Given the description of an element on the screen output the (x, y) to click on. 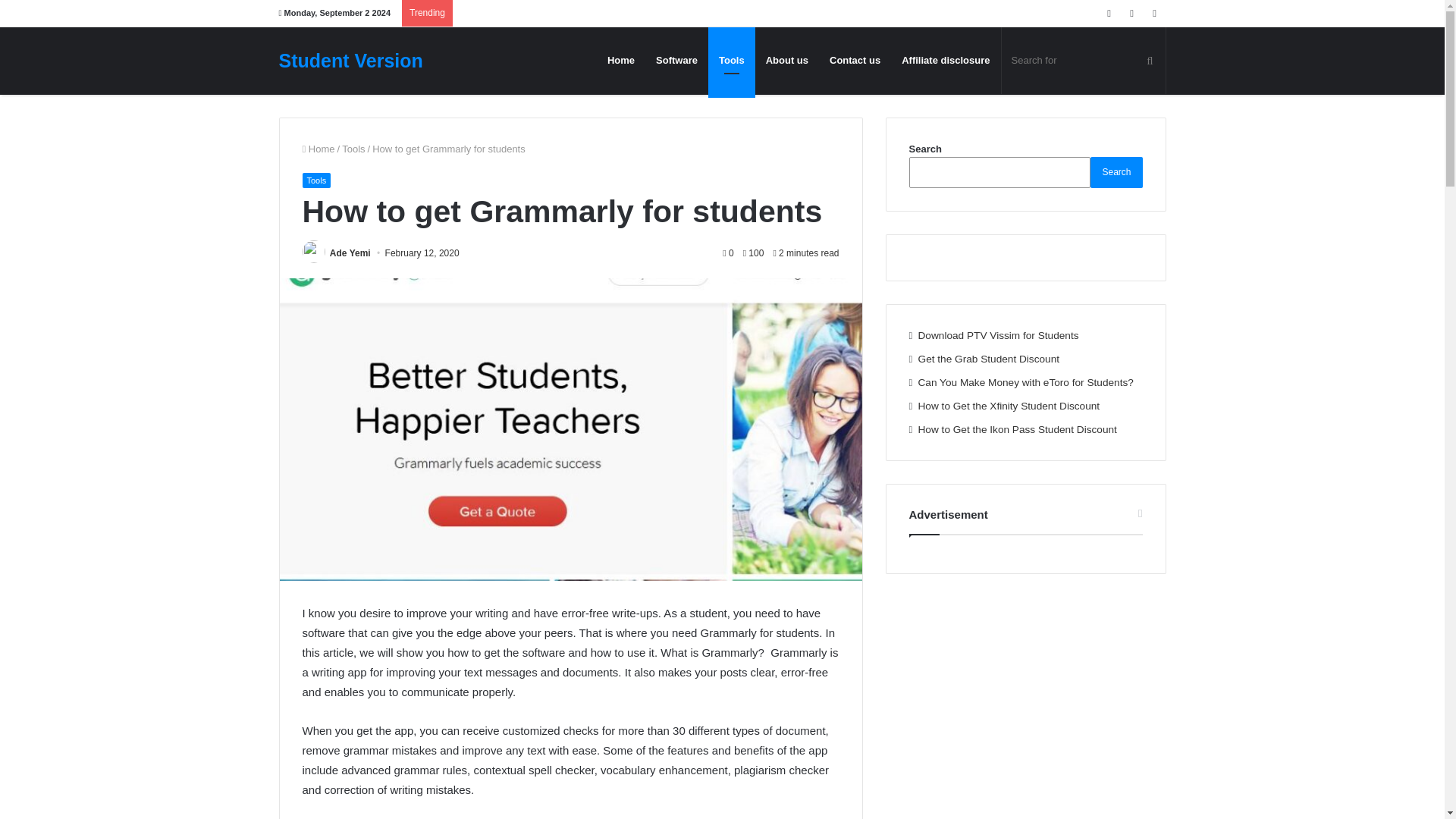
Software (676, 60)
0 (727, 253)
Contact us (854, 60)
Affiliate disclosure (945, 60)
About us (786, 60)
Home (317, 148)
Student Version (351, 60)
Tools (315, 180)
Ade Yemi (350, 253)
Tools (353, 148)
